Given the description of an element on the screen output the (x, y) to click on. 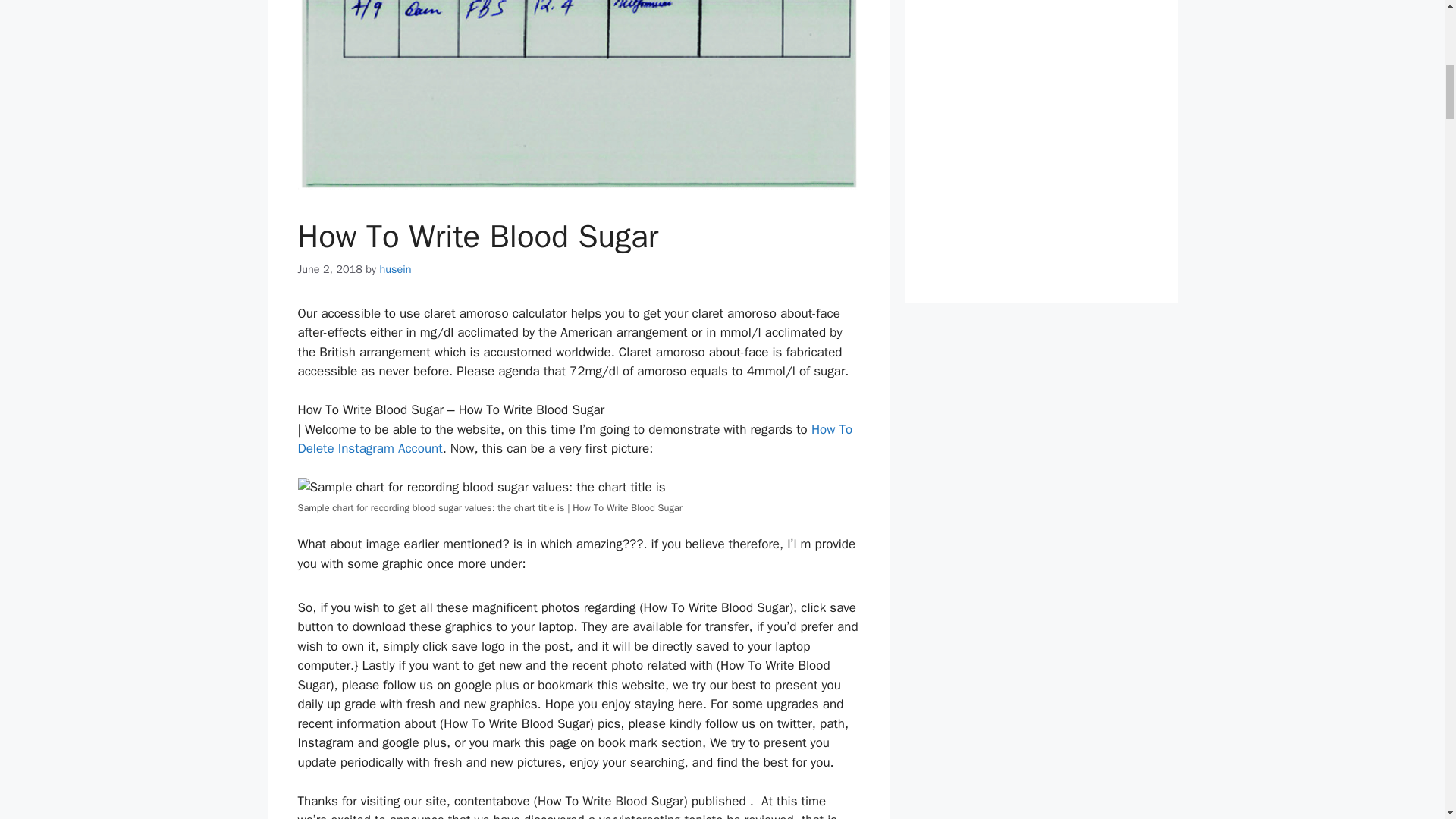
View all posts by husein (394, 269)
husein (394, 269)
How To Delete Instagram Account (574, 439)
